Given the description of an element on the screen output the (x, y) to click on. 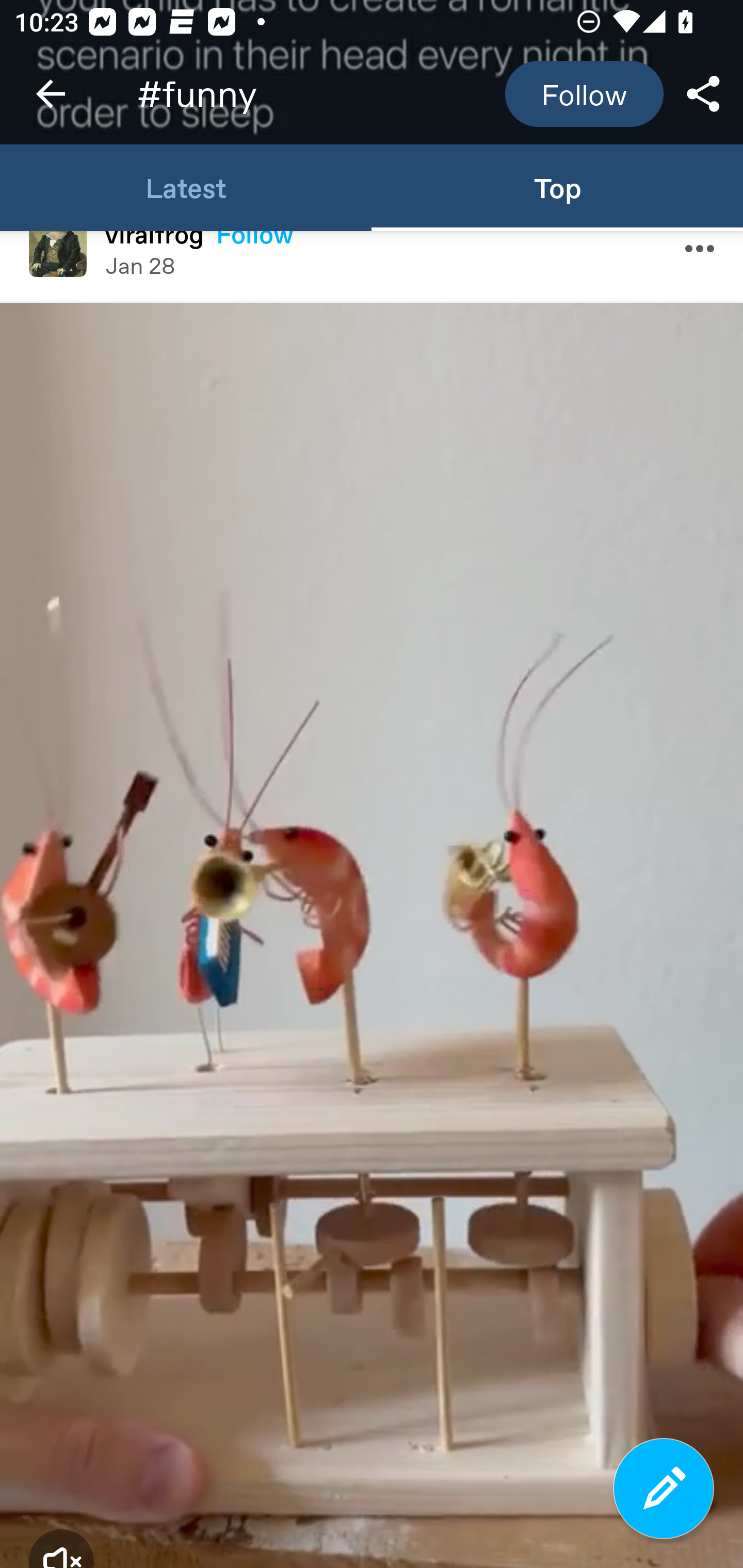
Navigate up (50, 93)
Follow (584, 94)
Latest (185, 187)
Avatar frame viralfrog   viralfrog Follow Jan 28 (371, 265)
Compose a new post (663, 1488)
